Given the description of an element on the screen output the (x, y) to click on. 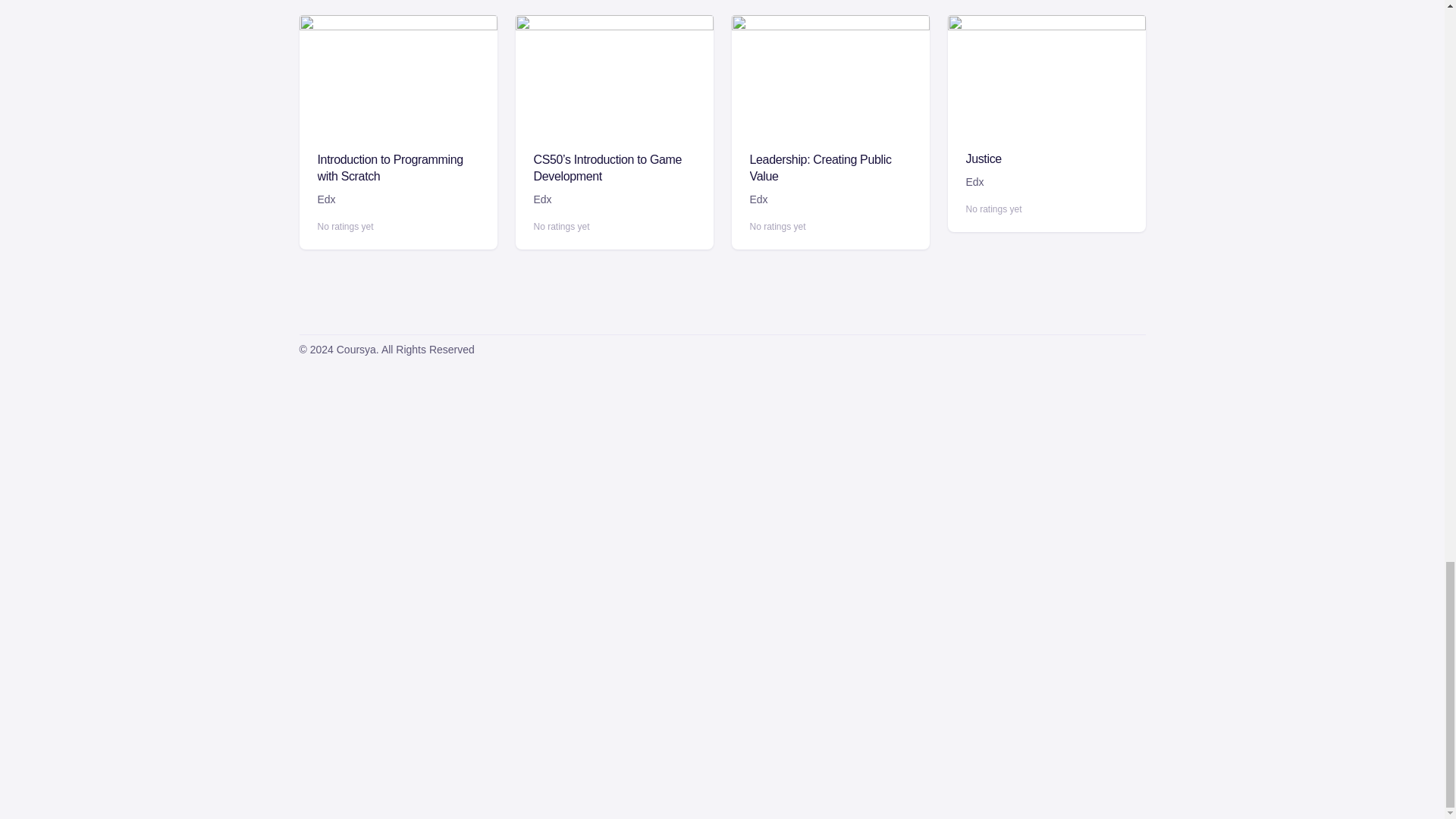
Leadership: Creating Public Value (820, 166)
Edx (542, 199)
Justice (983, 158)
Edx (325, 199)
Edx (975, 182)
Introduction to Programming with Scratch (390, 166)
Edx (758, 199)
